Given the description of an element on the screen output the (x, y) to click on. 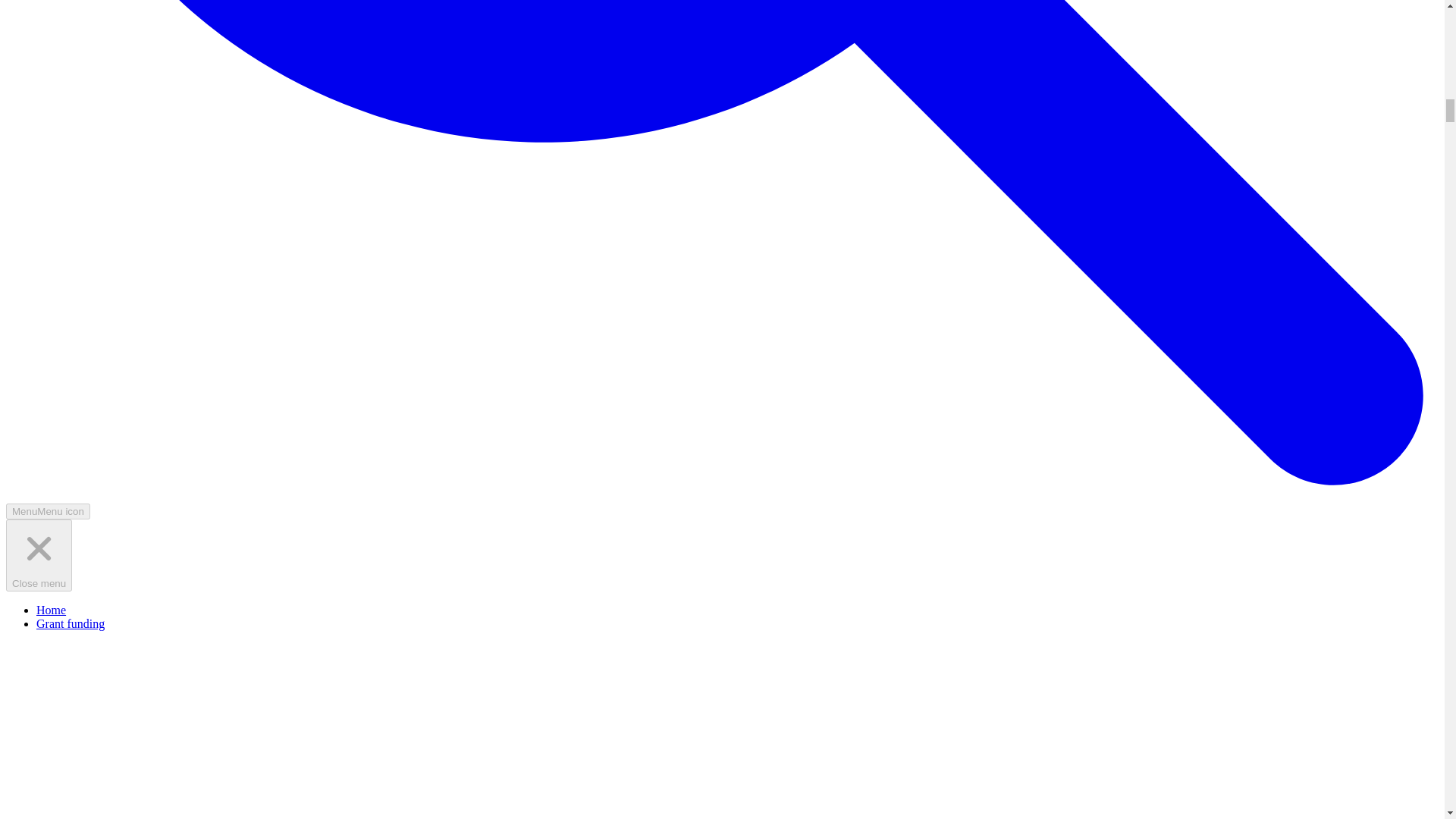
Home (50, 609)
Close menu (38, 555)
MenuMenu icon (47, 511)
